Given the description of an element on the screen output the (x, y) to click on. 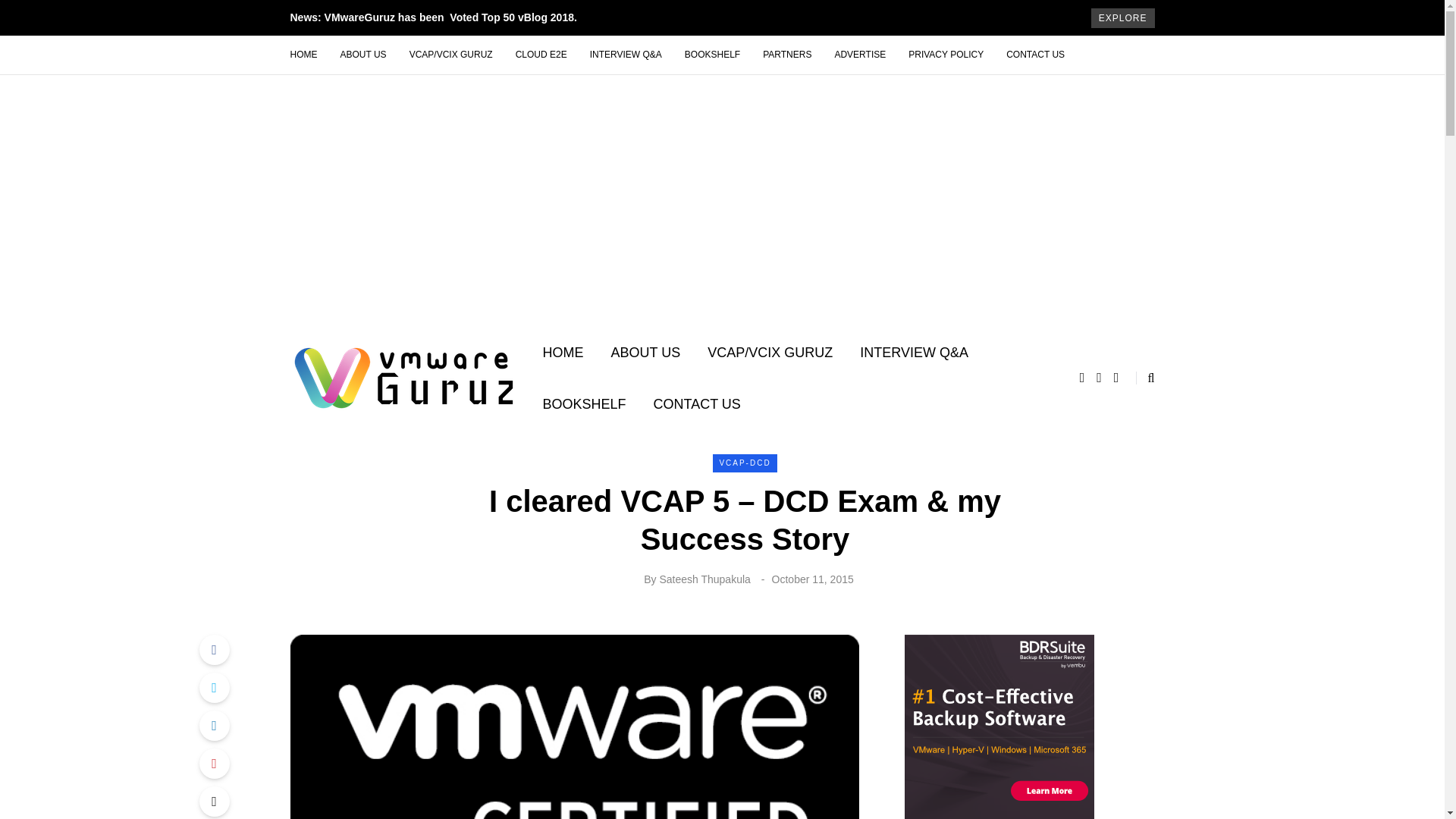
Pin this (213, 763)
Tweet this (213, 687)
Posts by Sateesh Thupakula (704, 579)
Share with Facebook (213, 649)
ABOUT US (645, 352)
Share to WhatsApp (213, 801)
CONTACT US (1034, 55)
ABOUT US (363, 55)
CLOUD E2E (540, 55)
ADVERTISE (859, 55)
HOME (309, 55)
BOOKSHELF (584, 403)
HOME (562, 352)
BOOKSHELF (711, 55)
